Given the description of an element on the screen output the (x, y) to click on. 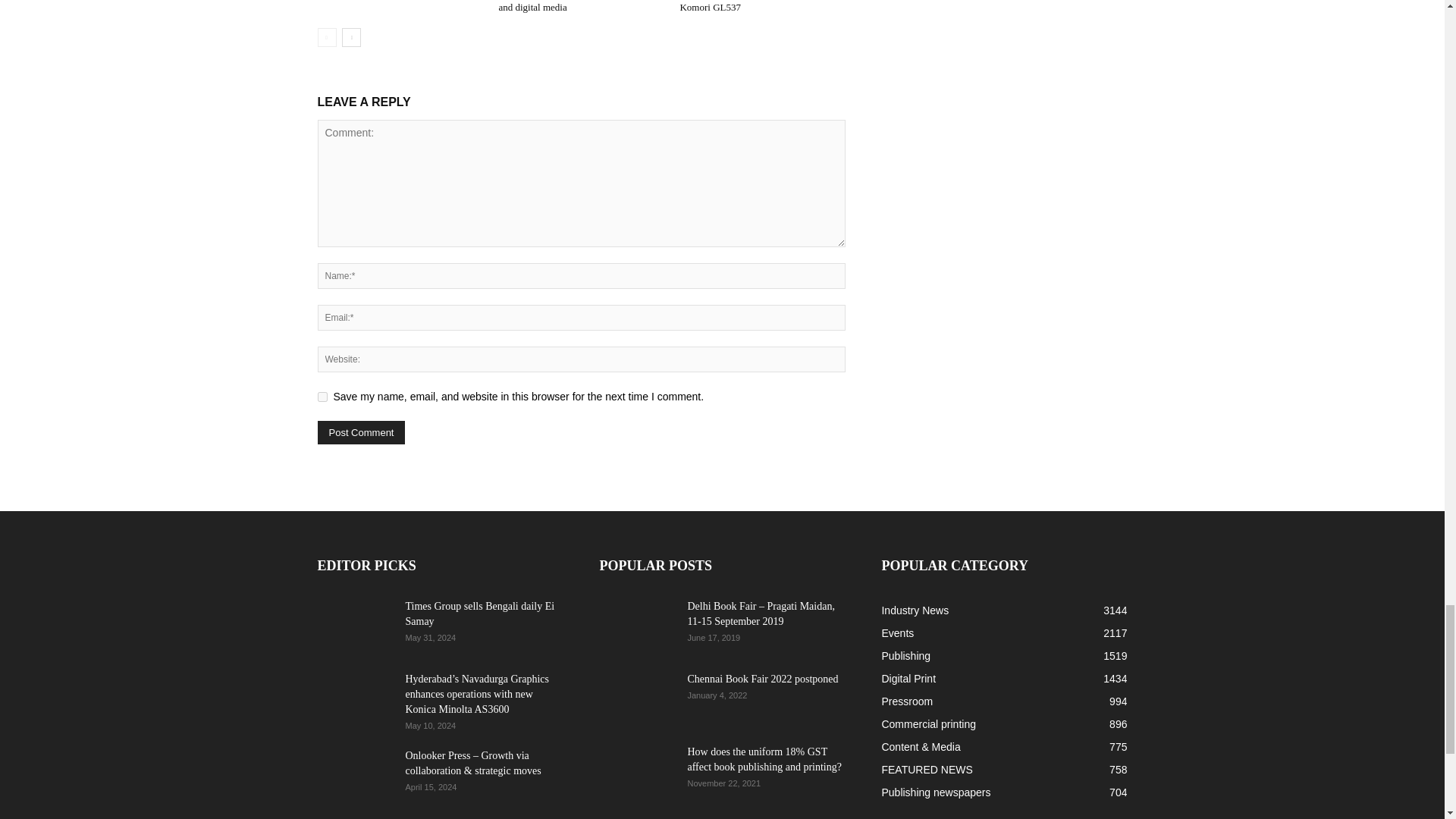
Post Comment (360, 432)
yes (321, 397)
